Given the description of an element on the screen output the (x, y) to click on. 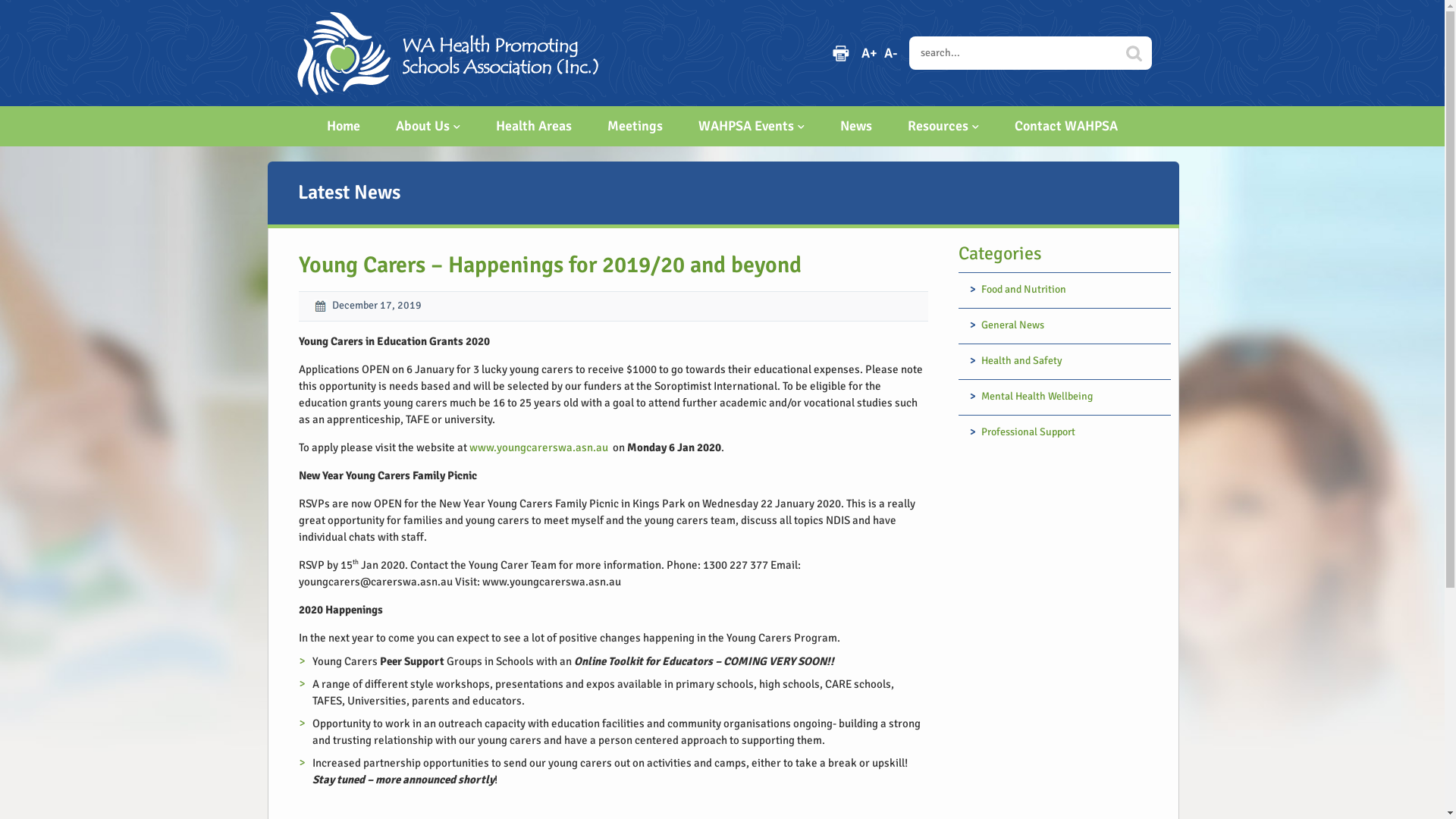
Mental Health Wellbeing Element type: text (1069, 396)
Home Element type: text (343, 126)
Professional Support Element type: text (1069, 432)
General News Element type: text (1069, 325)
A- Element type: text (890, 52)
Food and Nutrition Element type: text (1069, 289)
Health Areas Element type: text (533, 126)
www.youngcarerswa.asn.au Element type: text (537, 447)
Health and Safety Element type: text (1069, 361)
News Element type: text (855, 126)
A+ Element type: text (868, 52)
Contact WAHPSA Element type: text (1065, 126)
Meetings Element type: text (634, 126)
WAHPSA Element type: hover (447, 18)
Search Element type: text (1134, 52)
